Given the description of an element on the screen output the (x, y) to click on. 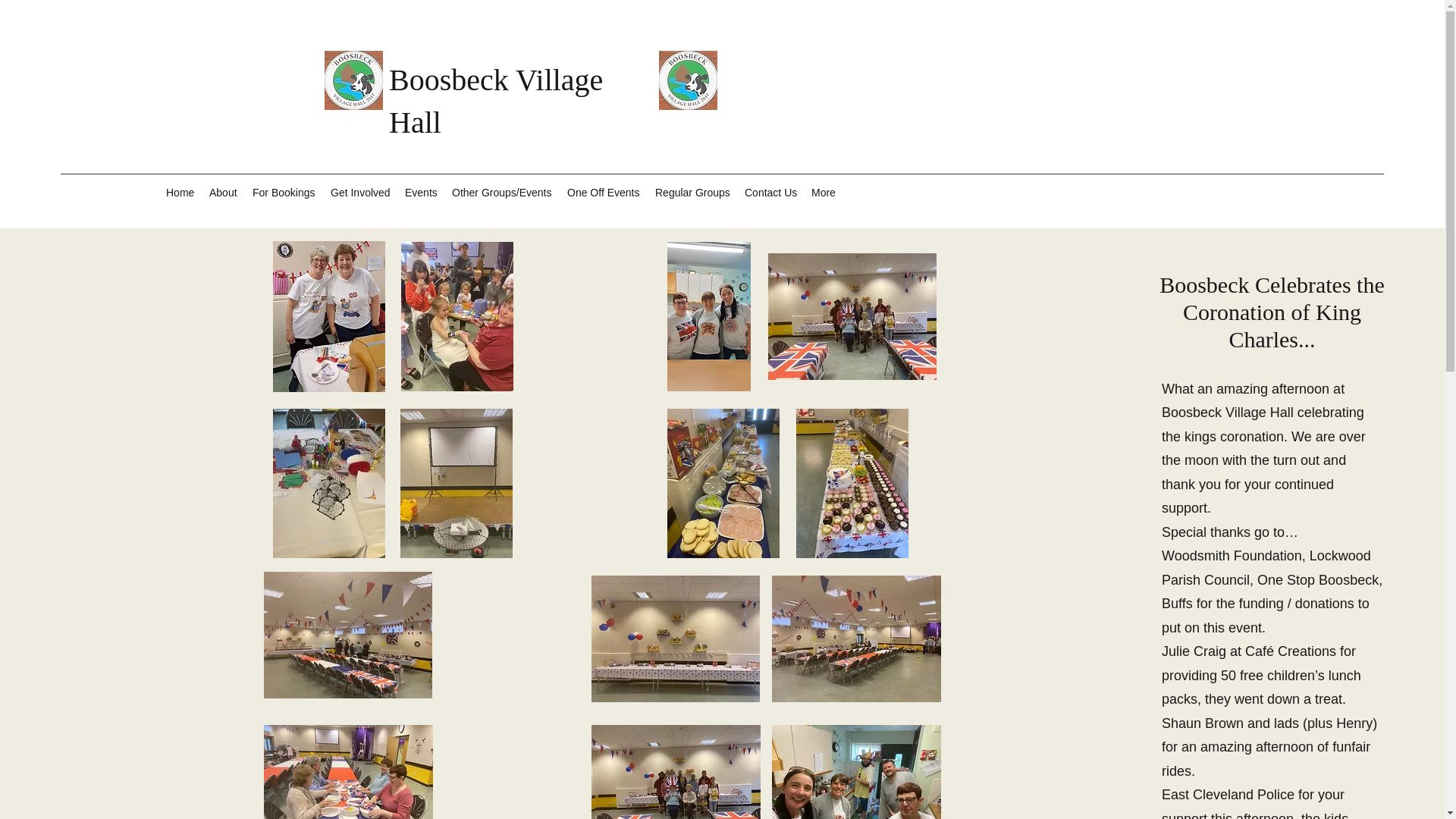
Events (420, 191)
Coronation Set Up 1.jpg (347, 634)
Regular Groups (691, 191)
For Bookings (283, 191)
Get Involved (360, 191)
Boosbeck Village Hall (1227, 412)
About (223, 191)
Woodsmith Foundation (1231, 555)
One Stop Boosbeck (1317, 580)
Shaun Brown (1202, 723)
